Given the description of an element on the screen output the (x, y) to click on. 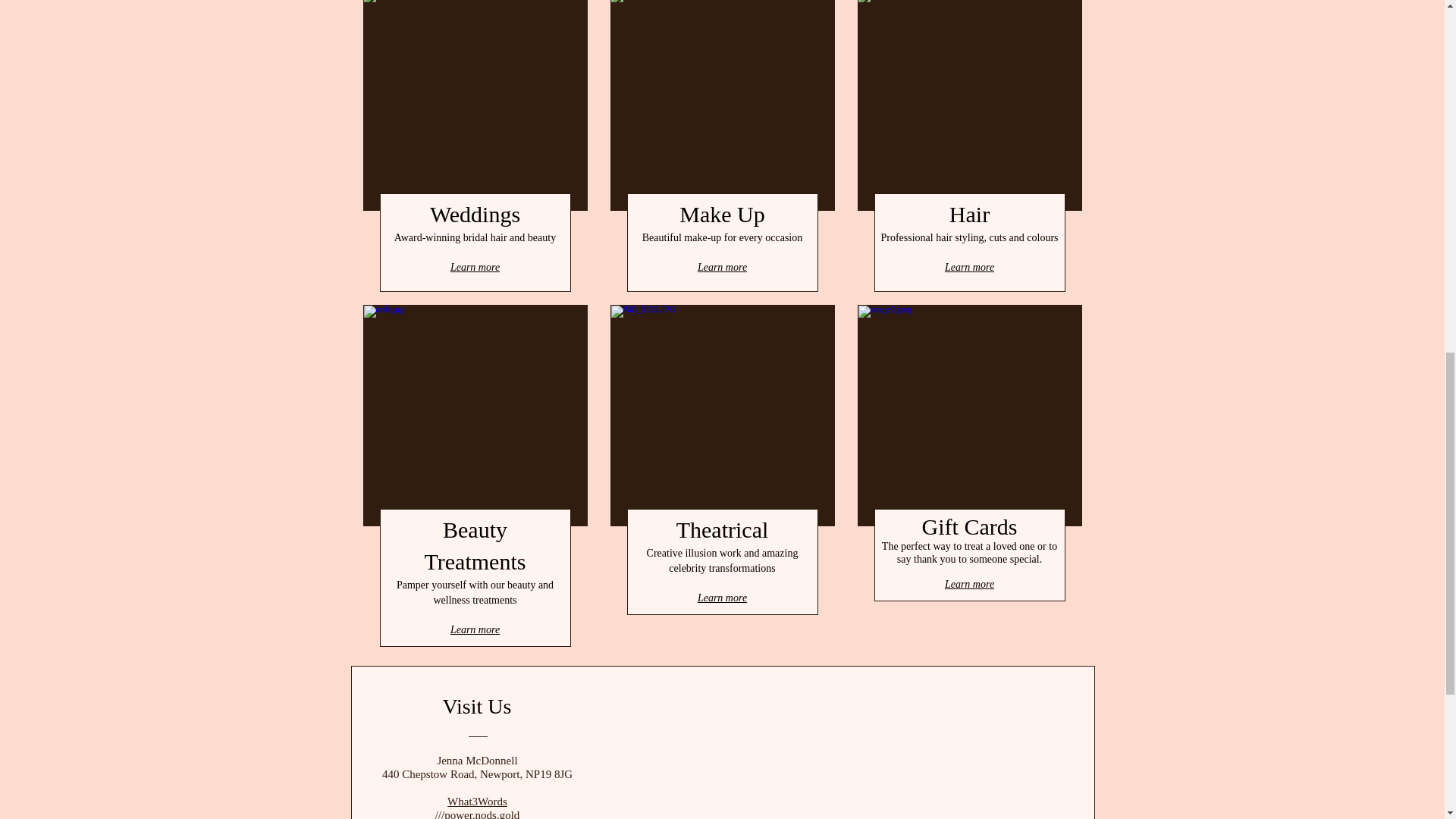
Learn more (721, 266)
Learn more (721, 597)
Learn more (474, 266)
Learn more (969, 266)
Learn more (474, 629)
